Given the description of an element on the screen output the (x, y) to click on. 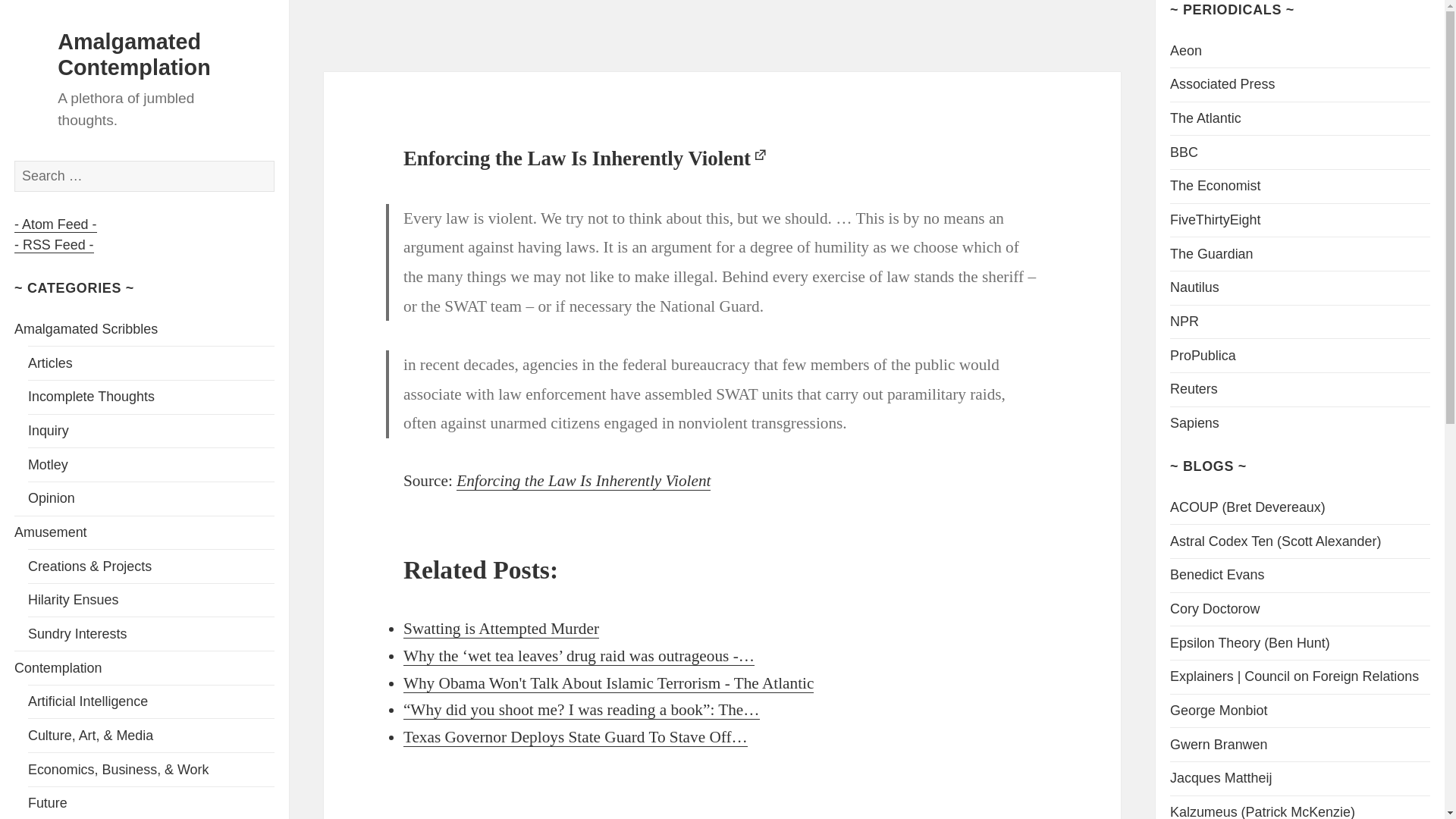
Incomplete Thoughts (90, 396)
Contemplation (57, 667)
Opinion (51, 498)
Sundry Interests (76, 633)
Amalgamated Contemplation (134, 54)
Motley (47, 464)
- Atom Feed - (55, 224)
Artificial Intelligence (87, 701)
Amusement (50, 531)
Articles (49, 363)
Amalgamated Scribbles (85, 328)
- RSS Feed - (53, 245)
